Given the description of an element on the screen output the (x, y) to click on. 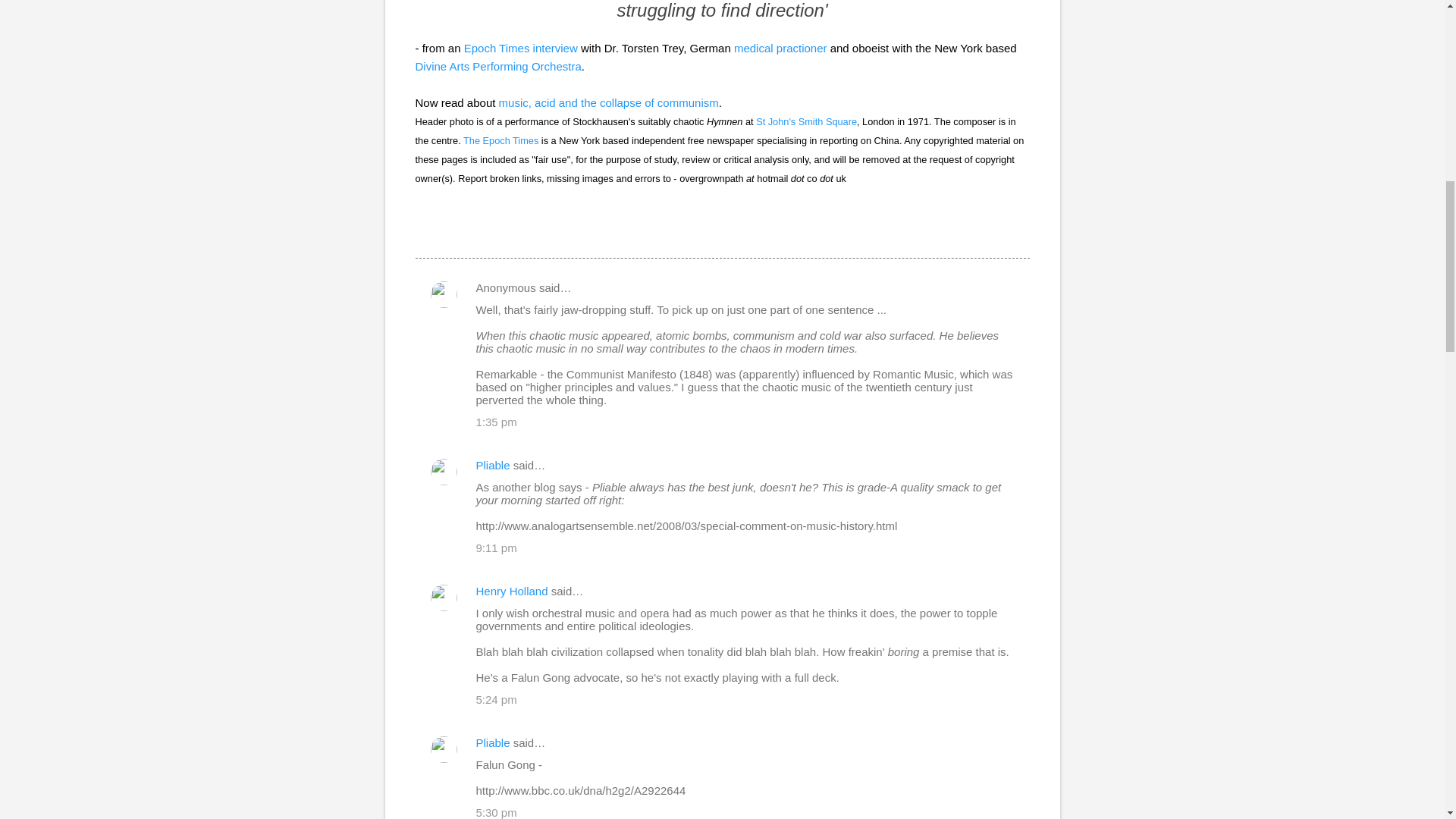
music, acid and the collapse of communism (609, 101)
Pliable (493, 742)
comment permalink (496, 421)
Henry Holland (512, 590)
Email Post (423, 230)
1:35 pm (496, 421)
9:11 pm (496, 547)
St John's Smith Square (806, 120)
Divine Arts Performing Orchestra (497, 65)
5:30 pm (496, 812)
